Given the description of an element on the screen output the (x, y) to click on. 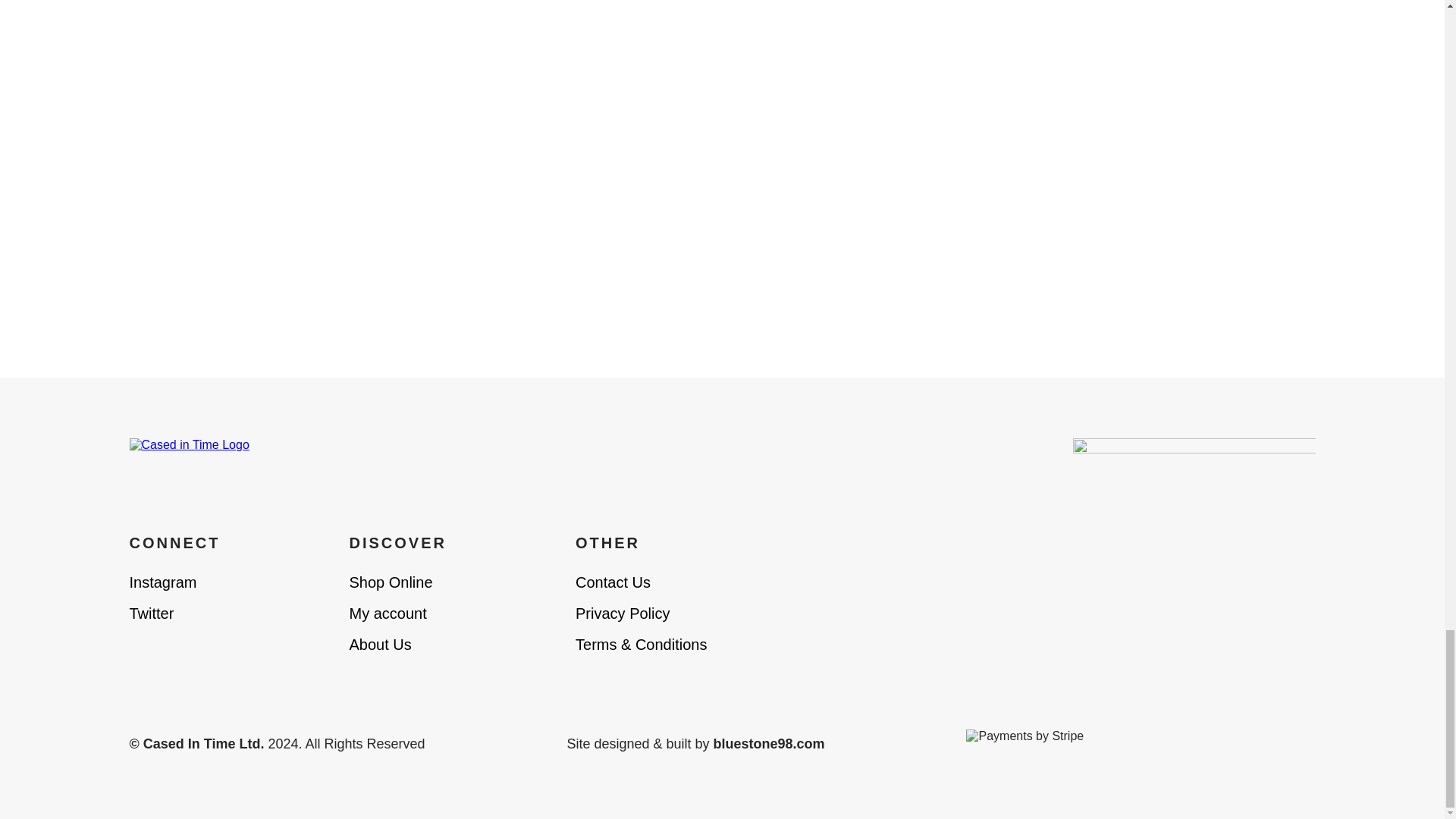
Twitter (151, 613)
My account (387, 613)
Shop Online (390, 582)
Instagram (162, 582)
Cased in Time - Home (227, 462)
About Us (379, 644)
